Given the description of an element on the screen output the (x, y) to click on. 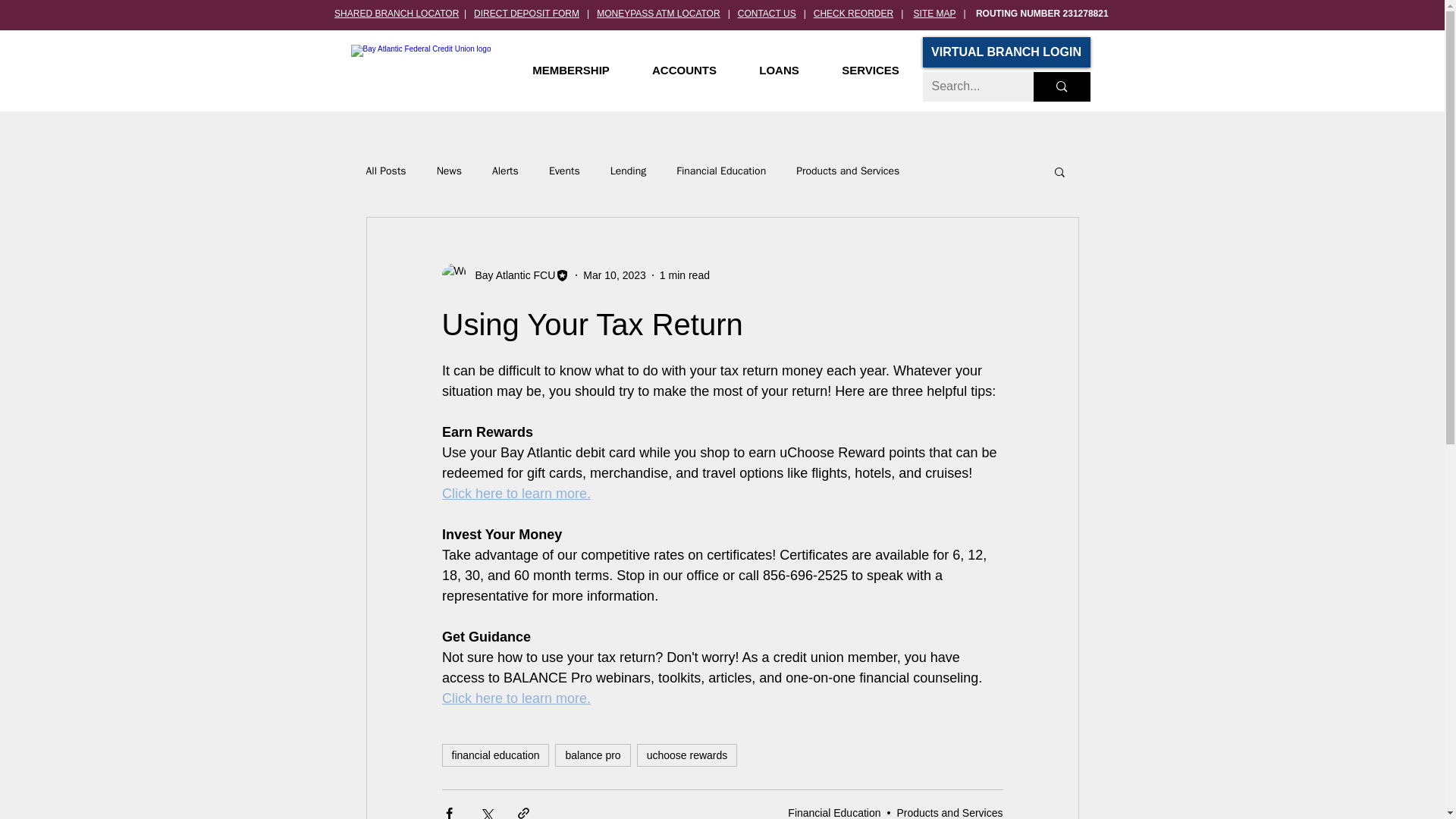
1 min read (684, 274)
Bay Atlantic FCU (509, 274)
Mar 10, 2023 (614, 274)
VIRTUAL BRANCH LOGIN (1005, 51)
News (448, 171)
All Posts (385, 171)
